Given the description of an element on the screen output the (x, y) to click on. 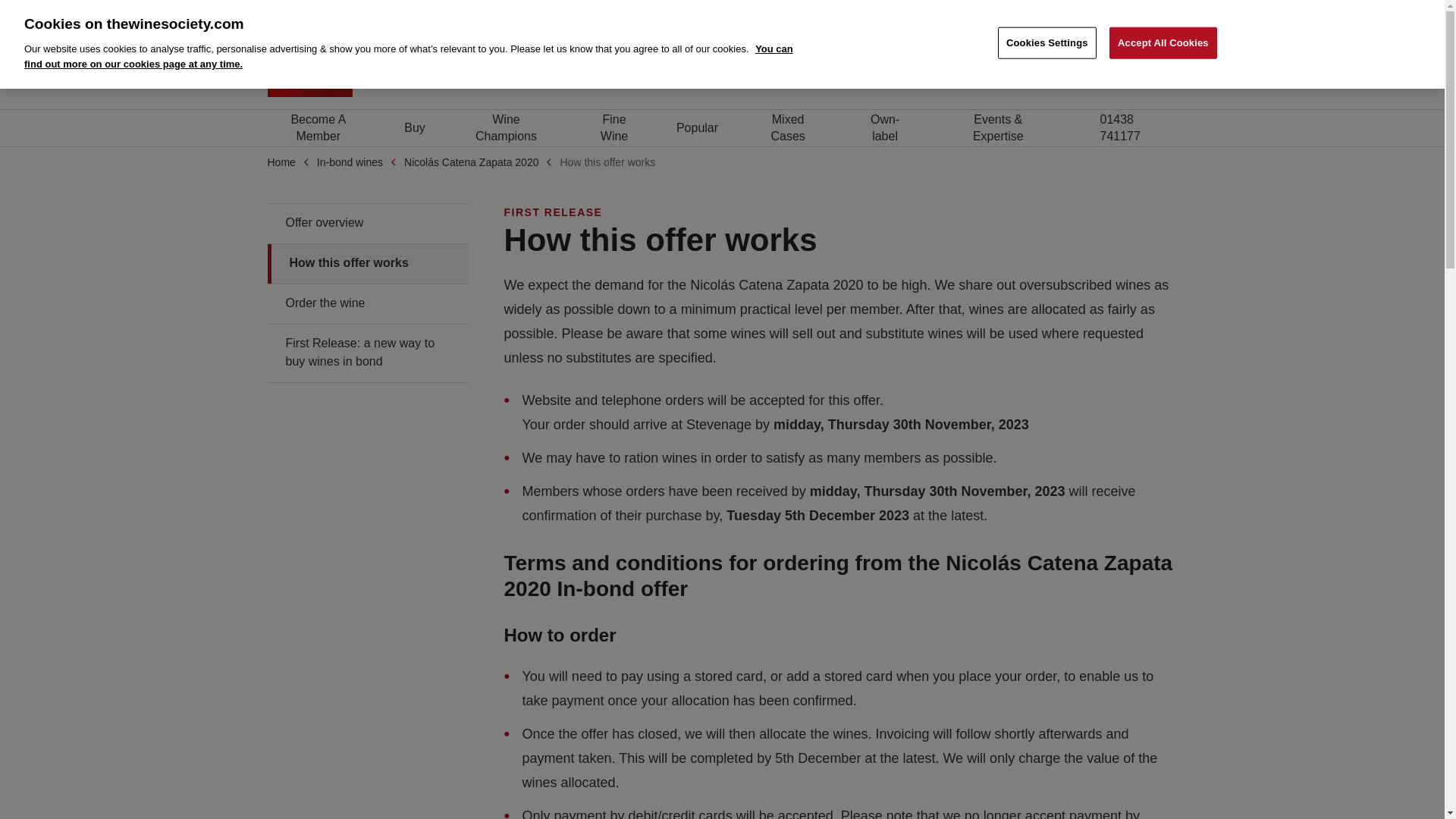
Help (1166, 10)
Community (1002, 10)
About Us (1067, 10)
Contact (1121, 10)
Login (1145, 66)
Become A Member (1045, 66)
Buy (318, 127)
